Given the description of an element on the screen output the (x, y) to click on. 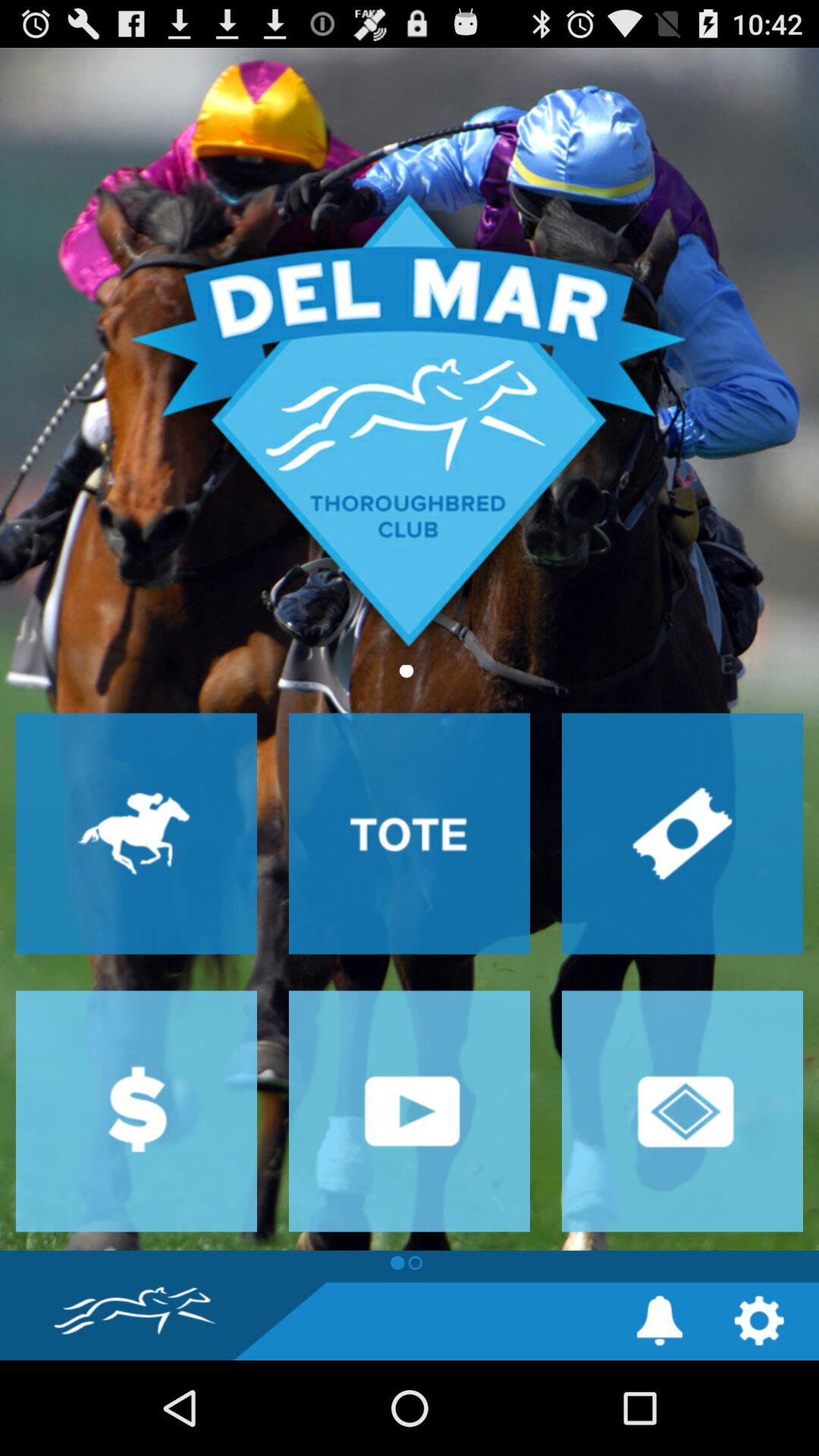
main screen (409, 648)
